Given the description of an element on the screen output the (x, y) to click on. 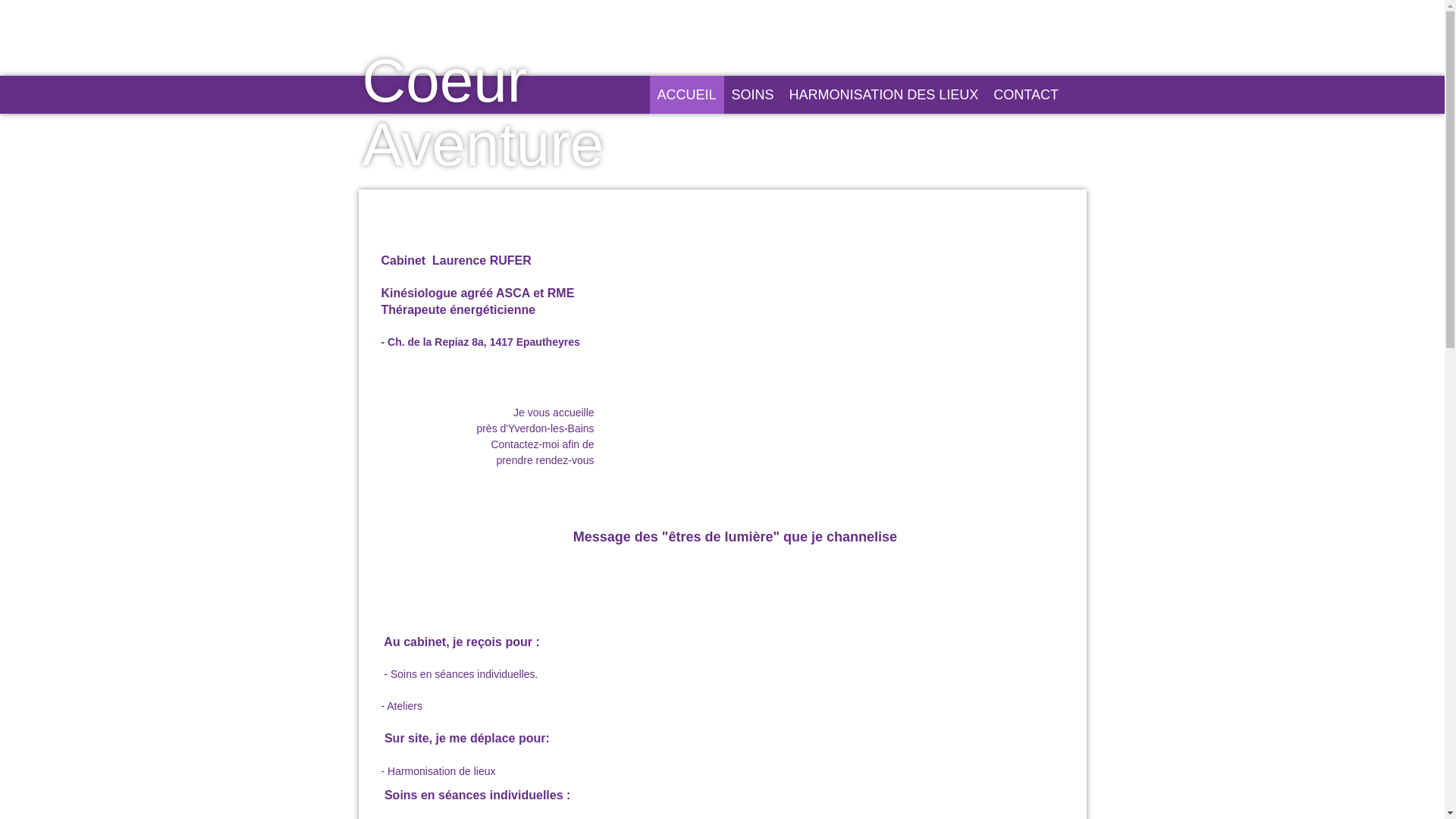
HARMONISATION DES LIEUX Element type: text (883, 94)
Coeur Aventure Element type: text (483, 171)
SOINS Element type: text (752, 94)
CONTACT Element type: text (1025, 94)
ACCUEIL Element type: text (686, 94)
